Given the description of an element on the screen output the (x, y) to click on. 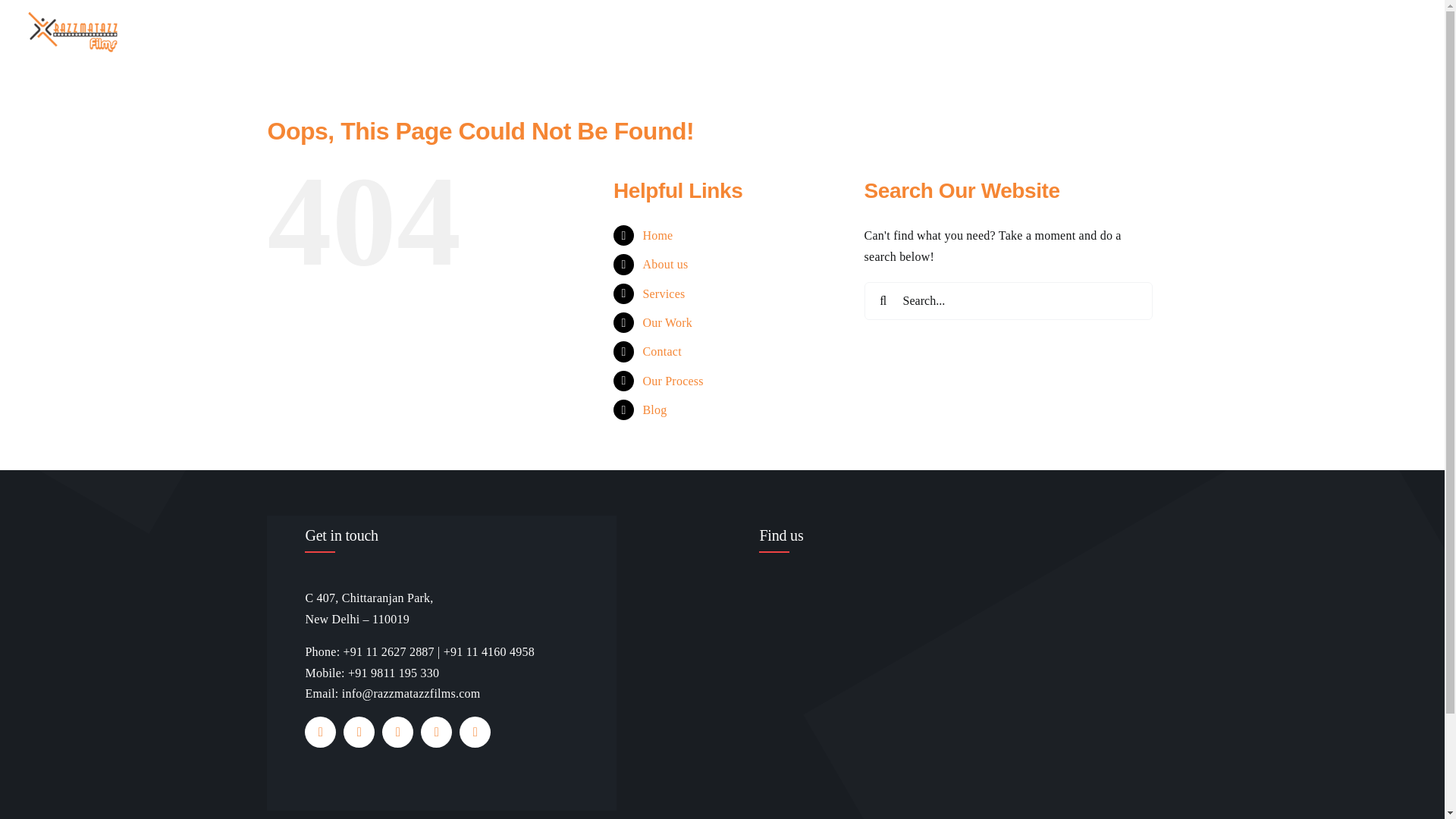
Our Process (1330, 31)
YouTube (435, 731)
Our Work (1161, 31)
Instagram (397, 731)
Facebook (320, 731)
Twitter (358, 731)
LinkedIn (475, 731)
